Given the description of an element on the screen output the (x, y) to click on. 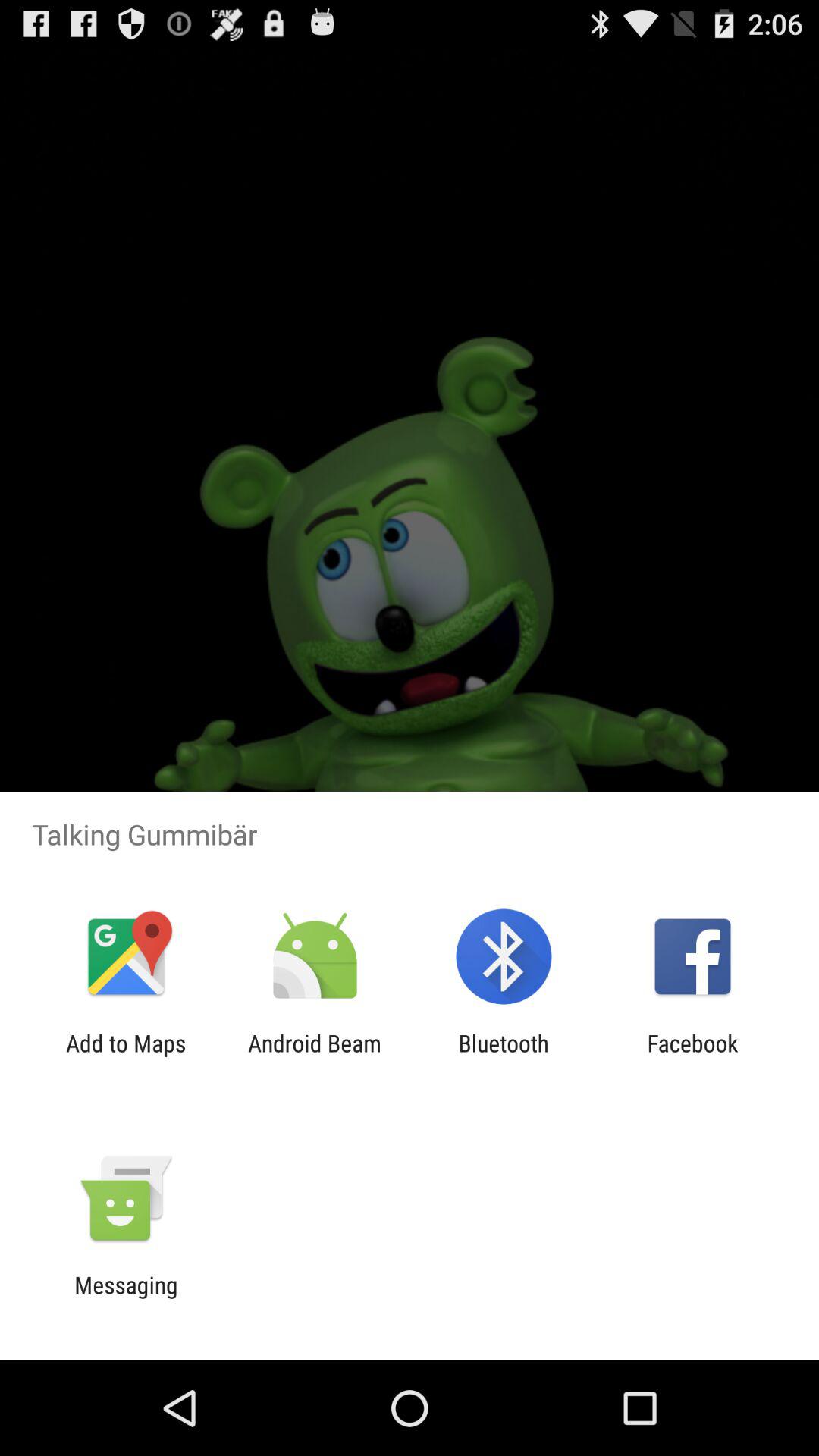
swipe until the add to maps app (125, 1056)
